Given the description of an element on the screen output the (x, y) to click on. 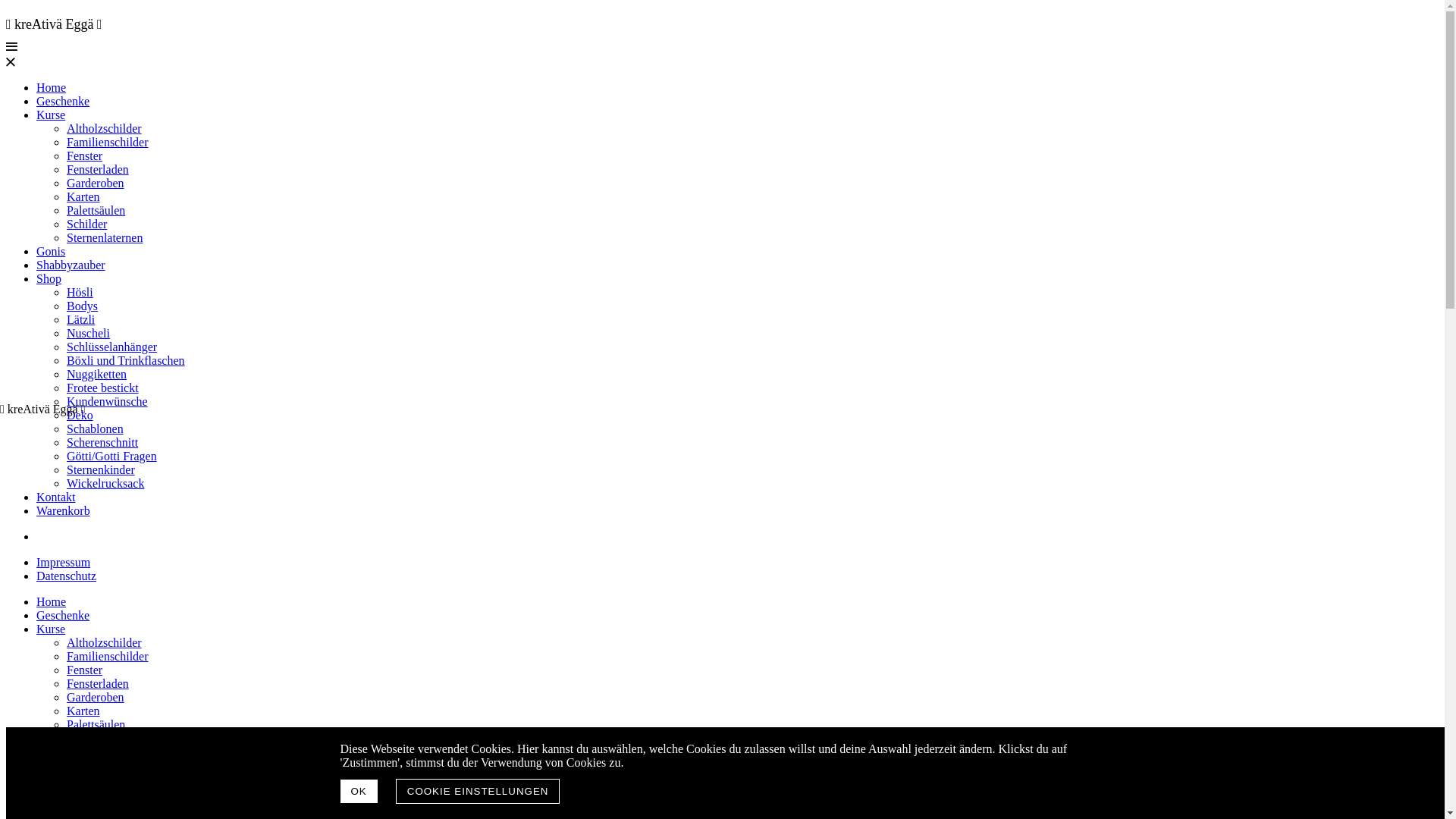
Home Element type: text (50, 601)
Sternenlaternen Element type: text (104, 751)
COOKIE EINSTELLUNGEN Element type: text (477, 790)
Fensterladen Element type: text (97, 169)
Garderoben Element type: text (95, 182)
Altholzschilder Element type: text (103, 128)
Garderoben Element type: text (95, 696)
Nuggiketten Element type: text (96, 373)
Scherenschnitt Element type: text (102, 442)
Bodys Element type: text (81, 305)
Deko Element type: text (79, 414)
Datenschutz Element type: text (66, 575)
Shabbyzauber Element type: text (70, 778)
Familienschilder Element type: text (107, 141)
Home Element type: text (50, 87)
Familienschilder Element type: text (107, 655)
Kontakt Element type: text (55, 496)
Gonis Element type: text (50, 250)
Frotee bestickt Element type: text (102, 387)
Shop Element type: text (48, 792)
Schablonen Element type: text (94, 428)
Warenkorb Element type: text (63, 510)
Geschenke Element type: text (62, 614)
Schilder Element type: text (86, 737)
Geschenke Element type: text (62, 100)
Shabbyzauber Element type: text (70, 264)
Kurse Element type: text (50, 628)
Nuscheli Element type: text (87, 332)
Karten Element type: text (83, 196)
Gonis Element type: text (50, 765)
Fenster Element type: text (84, 155)
Fensterladen Element type: text (97, 683)
Kurse Element type: text (50, 114)
Shop Element type: text (48, 278)
Impressum Element type: text (63, 561)
Sternenkinder Element type: text (100, 469)
OK Element type: text (357, 791)
Schilder Element type: text (86, 223)
Karten Element type: text (83, 710)
Sternenlaternen Element type: text (104, 237)
Wickelrucksack Element type: text (105, 482)
Fenster Element type: text (84, 669)
Altholzschilder Element type: text (103, 642)
